Given the description of an element on the screen output the (x, y) to click on. 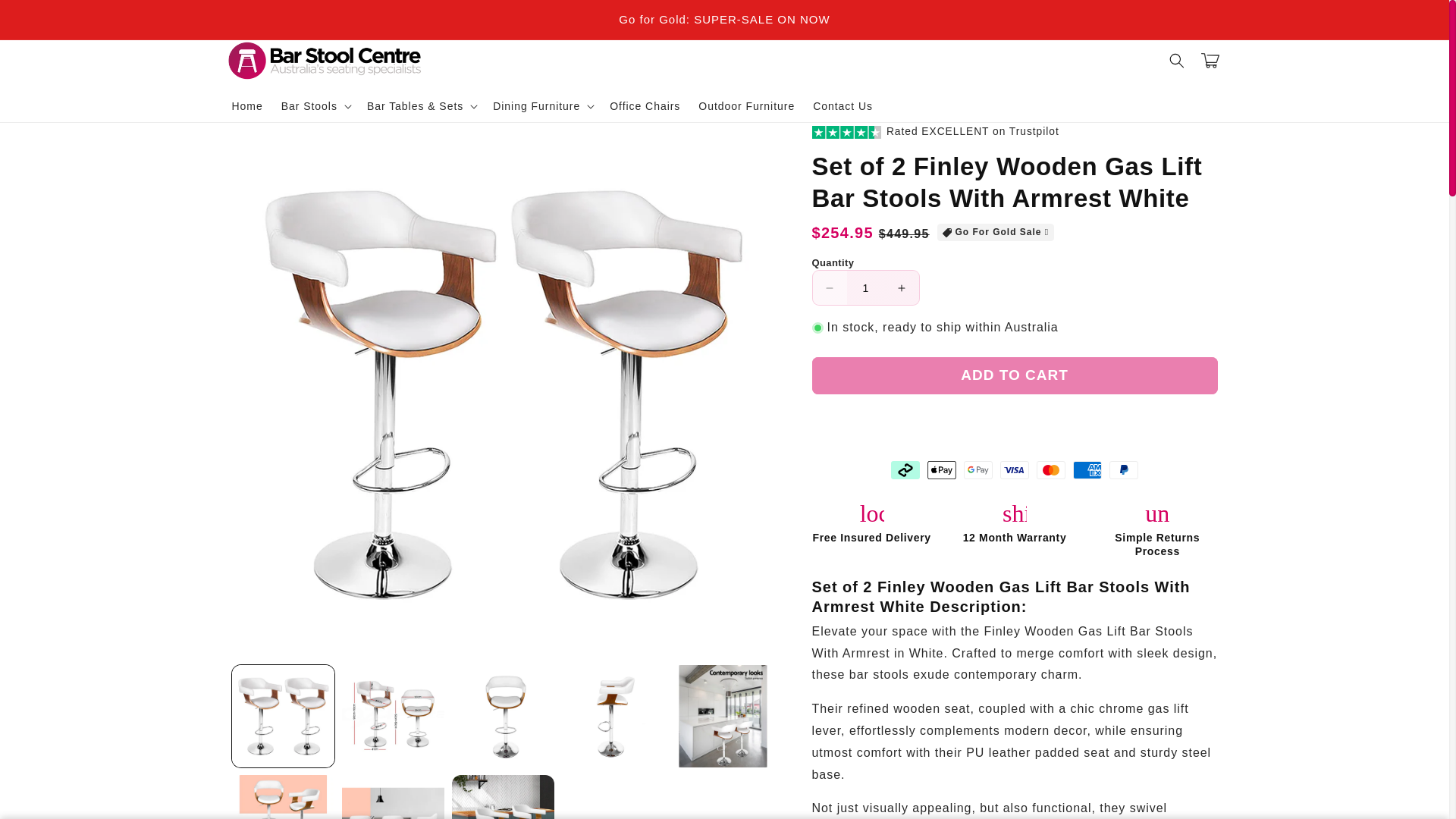
1 (864, 287)
Skip to content (46, 18)
